Given the description of an element on the screen output the (x, y) to click on. 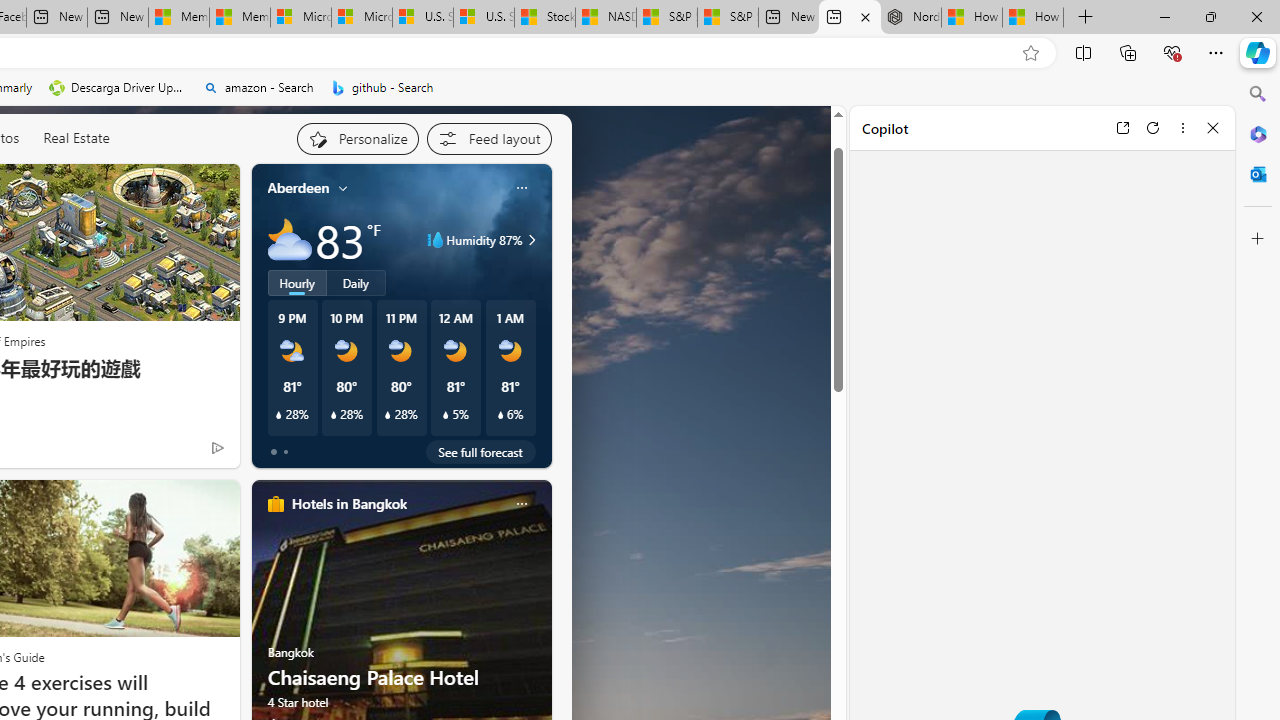
Daily (356, 282)
Feed settings (488, 138)
